Given the description of an element on the screen output the (x, y) to click on. 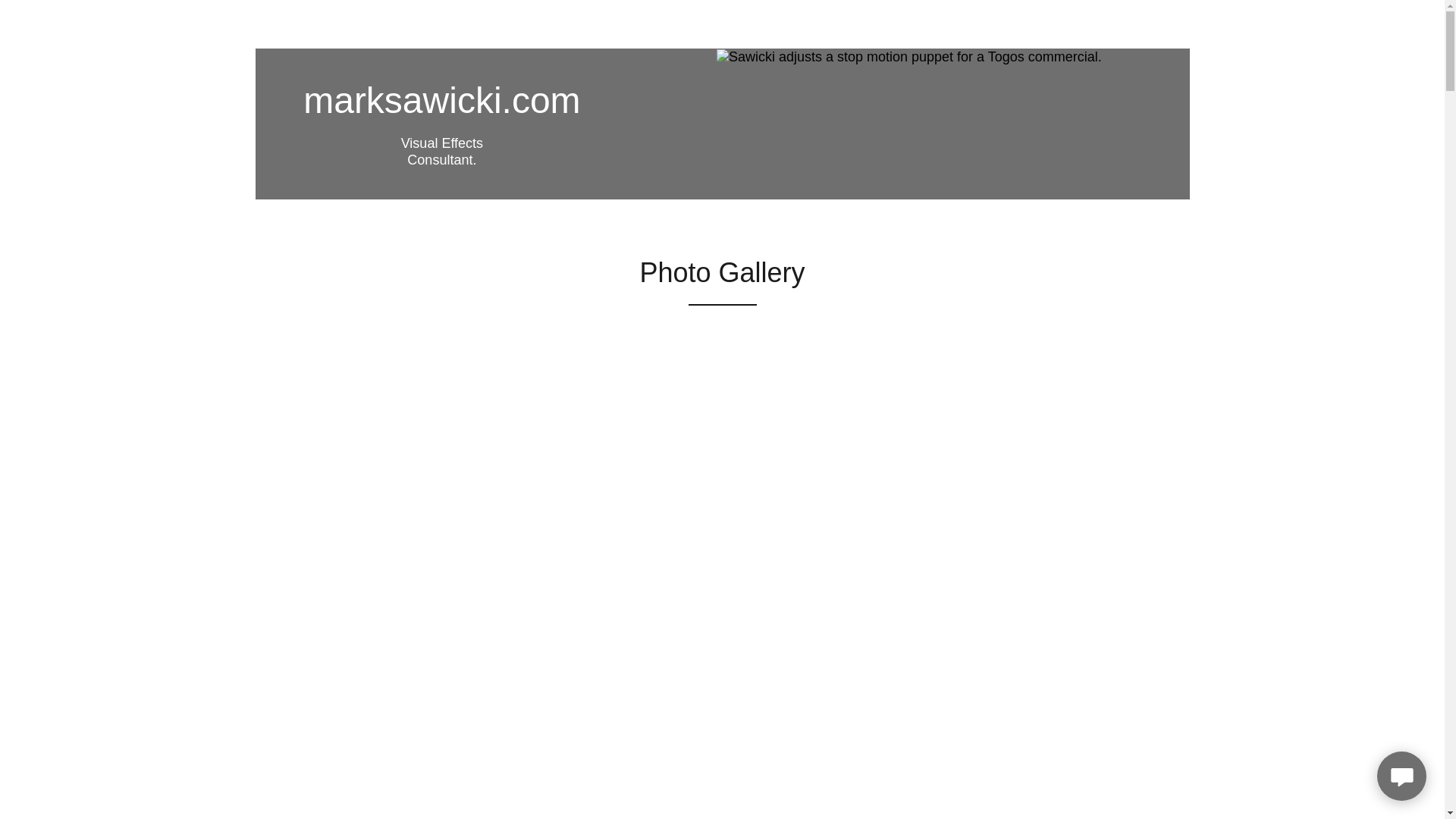
marksawicki.com (441, 108)
marksawicki.com (441, 108)
